Given the description of an element on the screen output the (x, y) to click on. 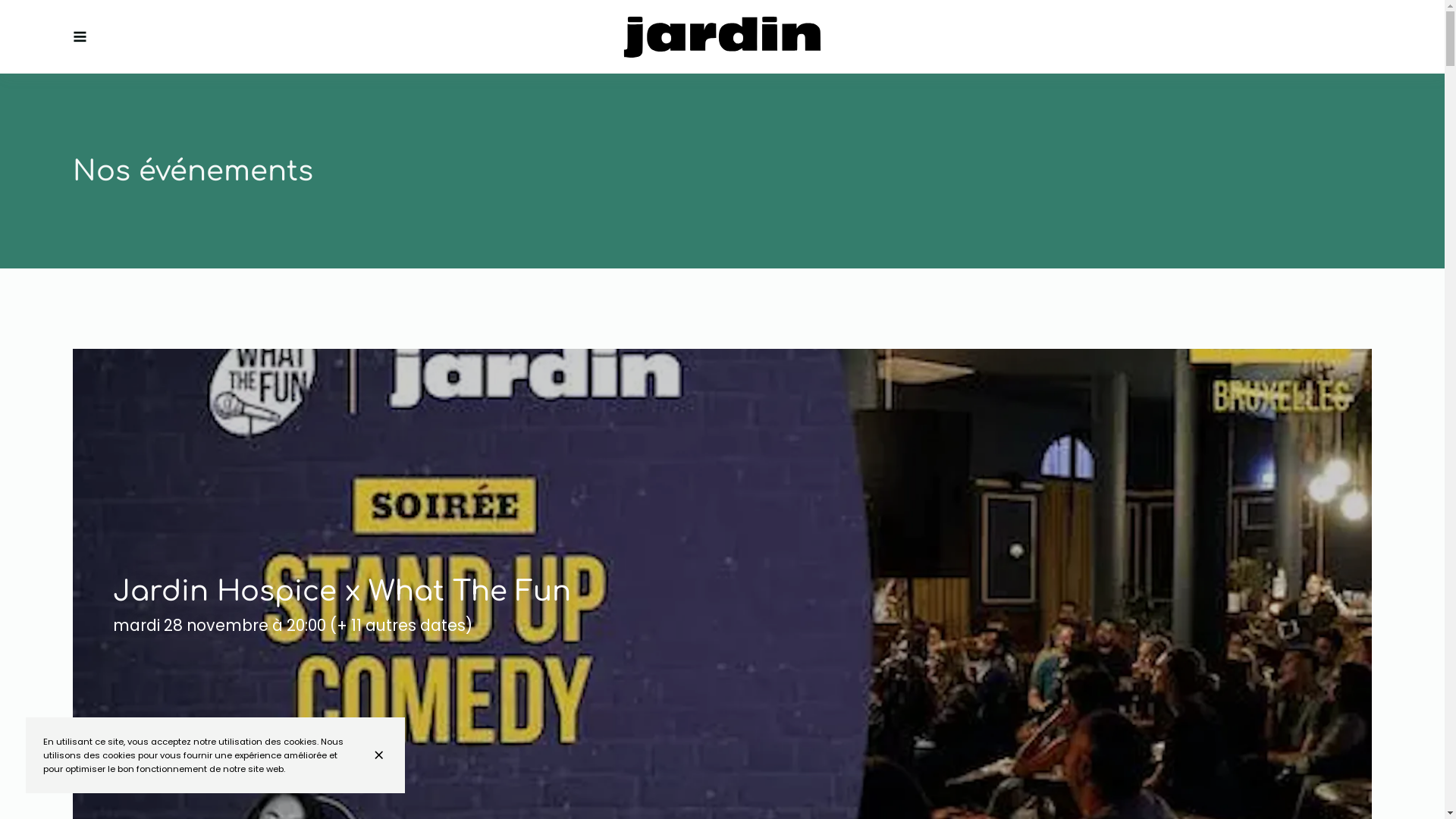
JARDIN Element type: text (721, 36)
Logo de Jardin Element type: hover (721, 36)
